Given the description of an element on the screen output the (x, y) to click on. 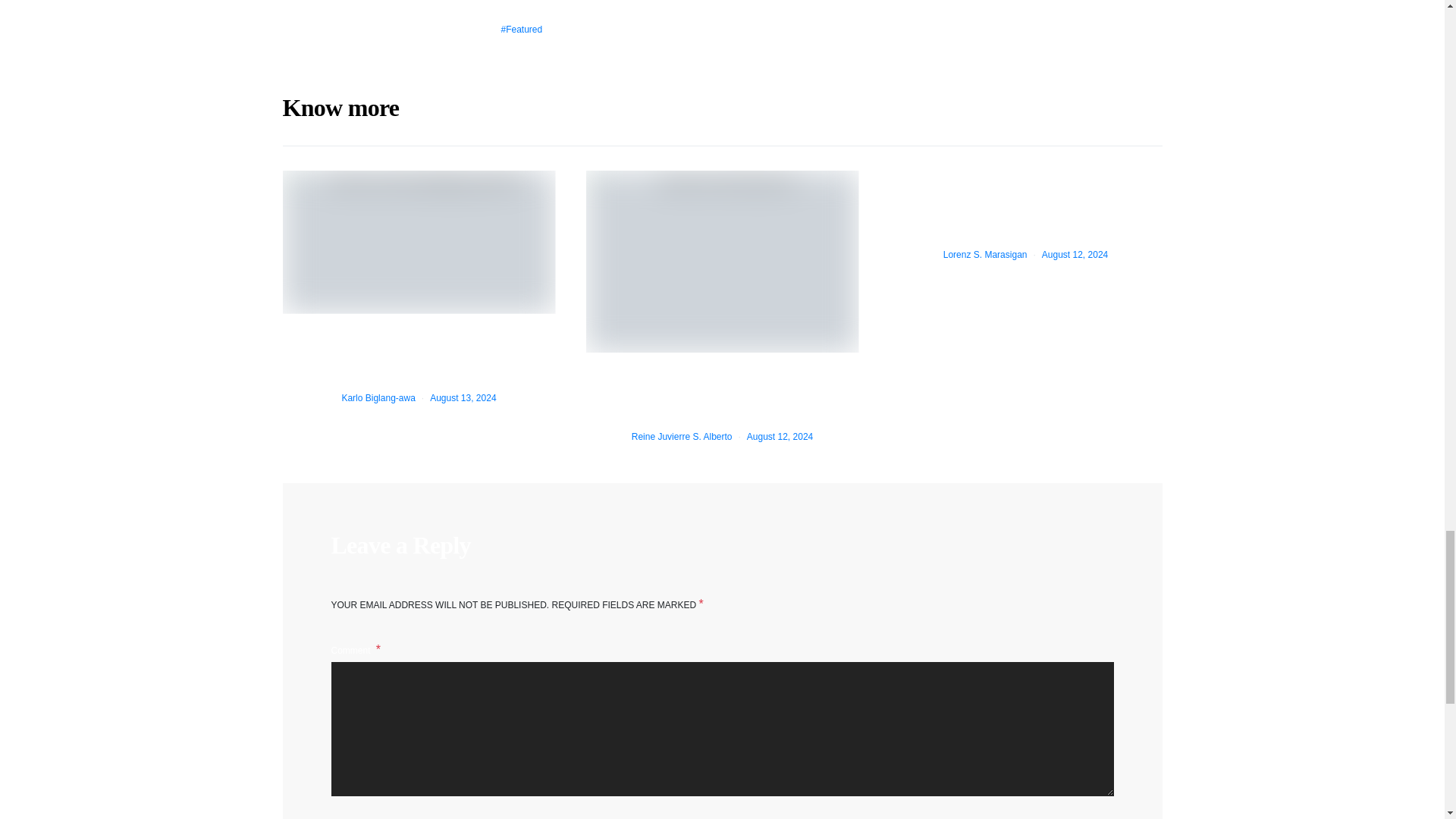
View all posts by Reine Juvierre S. Alberto (681, 436)
View all posts by Karlo Biglang-awa (377, 398)
View all posts by Lorenz S. Marasigan (985, 254)
